Given the description of an element on the screen output the (x, y) to click on. 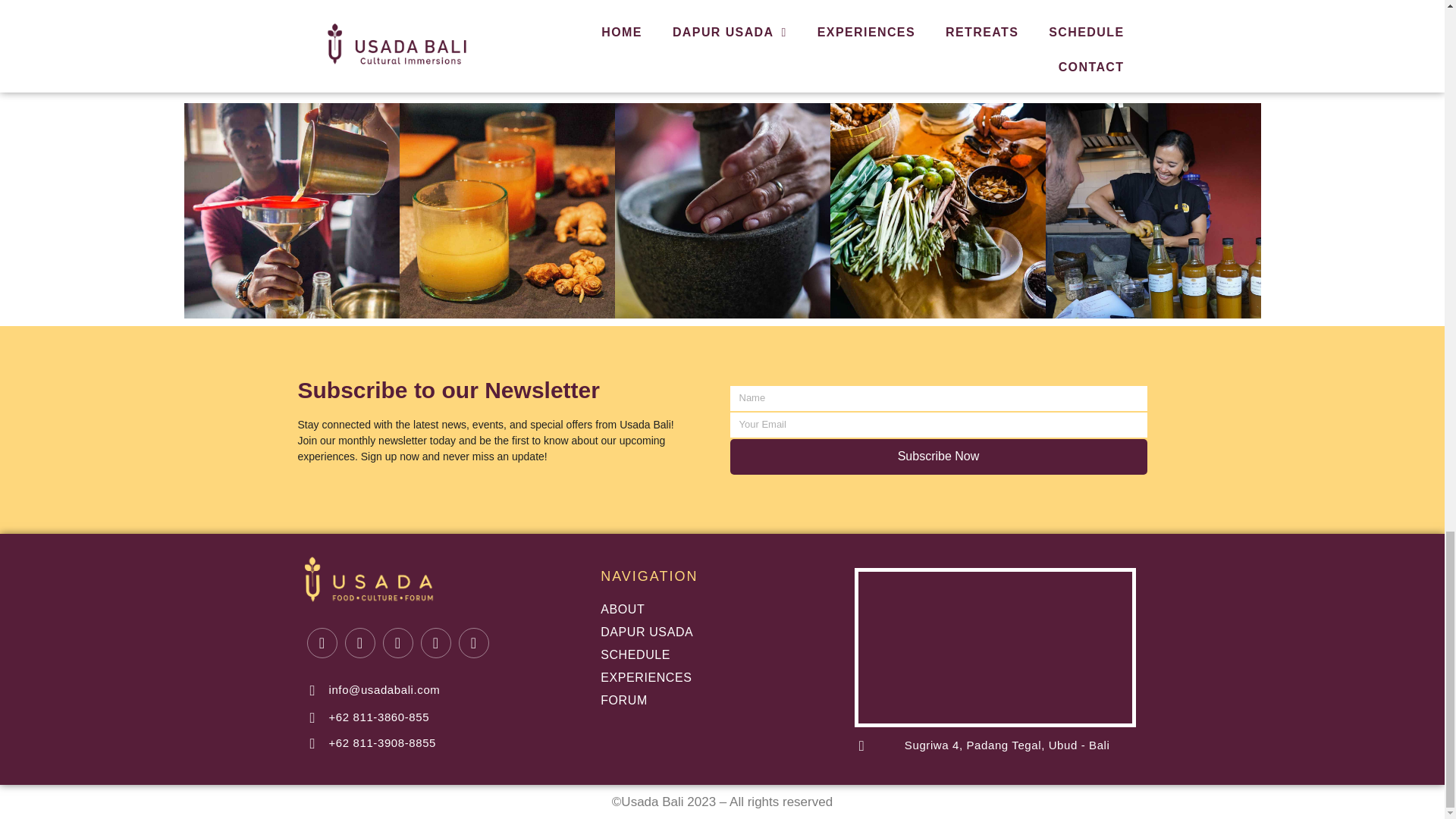
Usada bali Sugriwa 4, Padang Tegal, Ubud - Bali (995, 647)
